Given the description of an element on the screen output the (x, y) to click on. 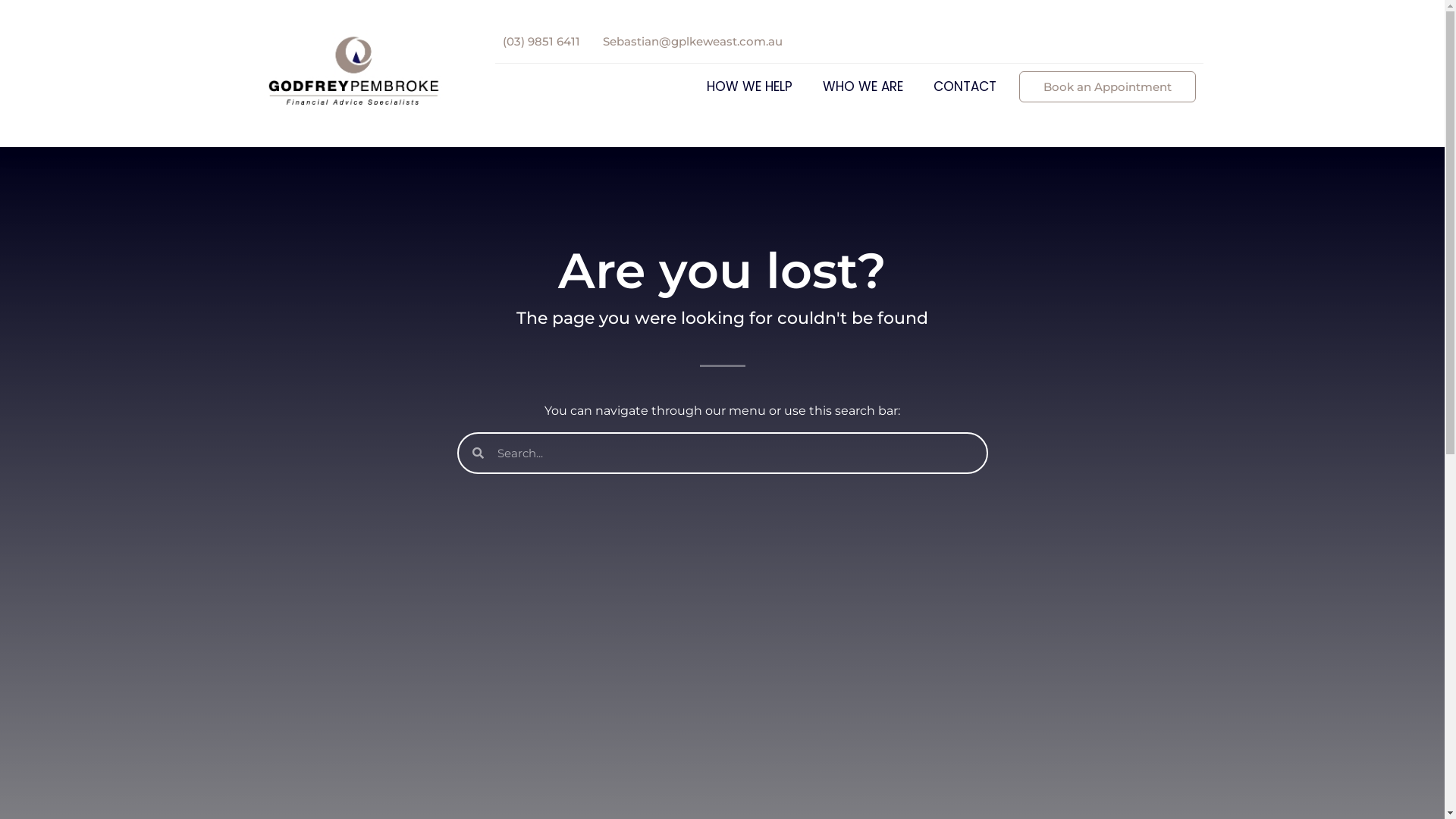
WHO WE ARE Element type: text (866, 86)
Book an Appointment Element type: text (1107, 86)
CONTACT Element type: text (964, 86)
Sebastian@gplkeweast.com.au Element type: text (691, 41)
(03) 9851 6411 Element type: text (540, 41)
HOW WE HELP Element type: text (753, 86)
